Given the description of an element on the screen output the (x, y) to click on. 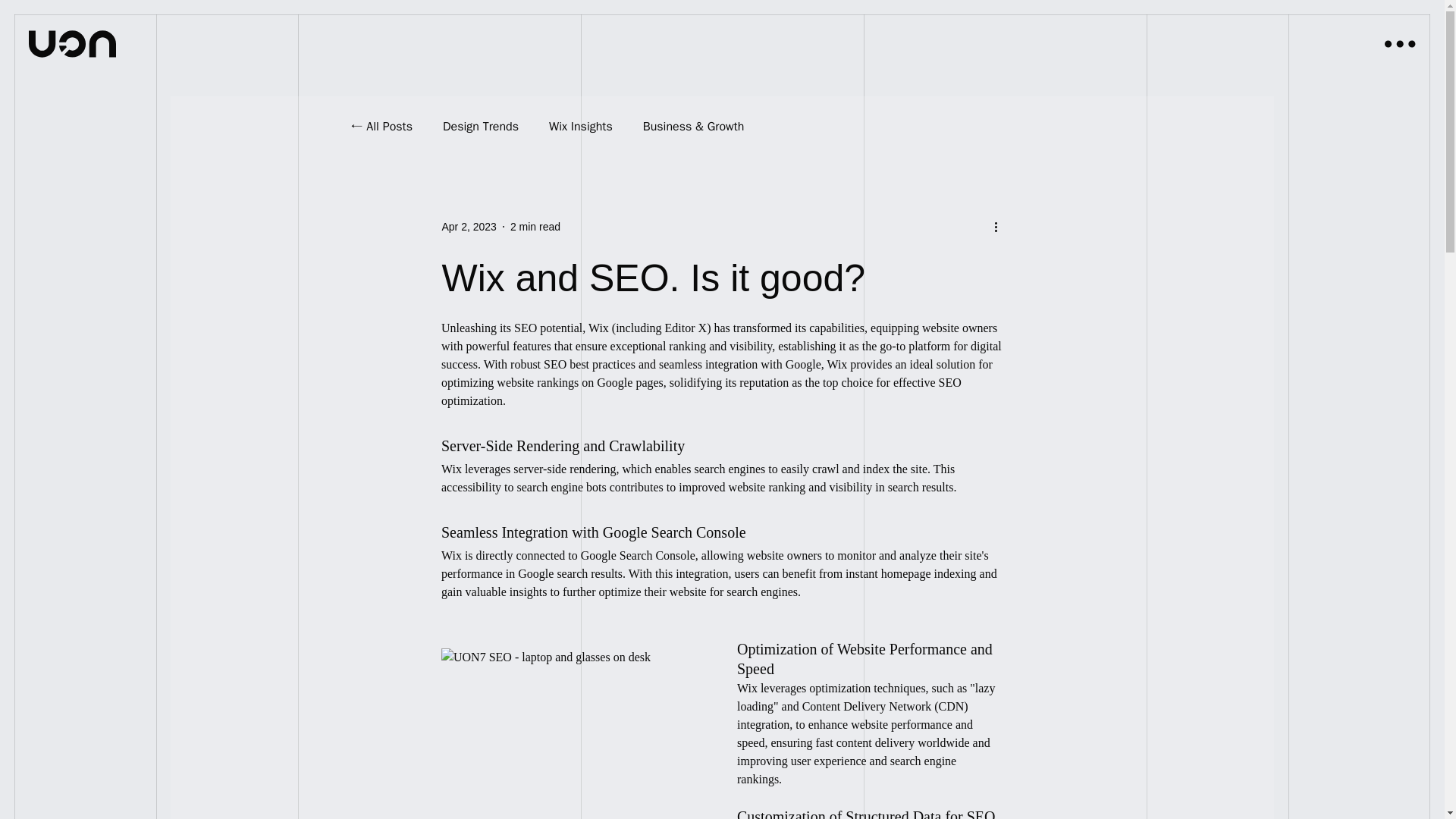
Design Trends (480, 126)
Wix Insights (580, 126)
2 min read (535, 226)
Apr 2, 2023 (468, 226)
